Given the description of an element on the screen output the (x, y) to click on. 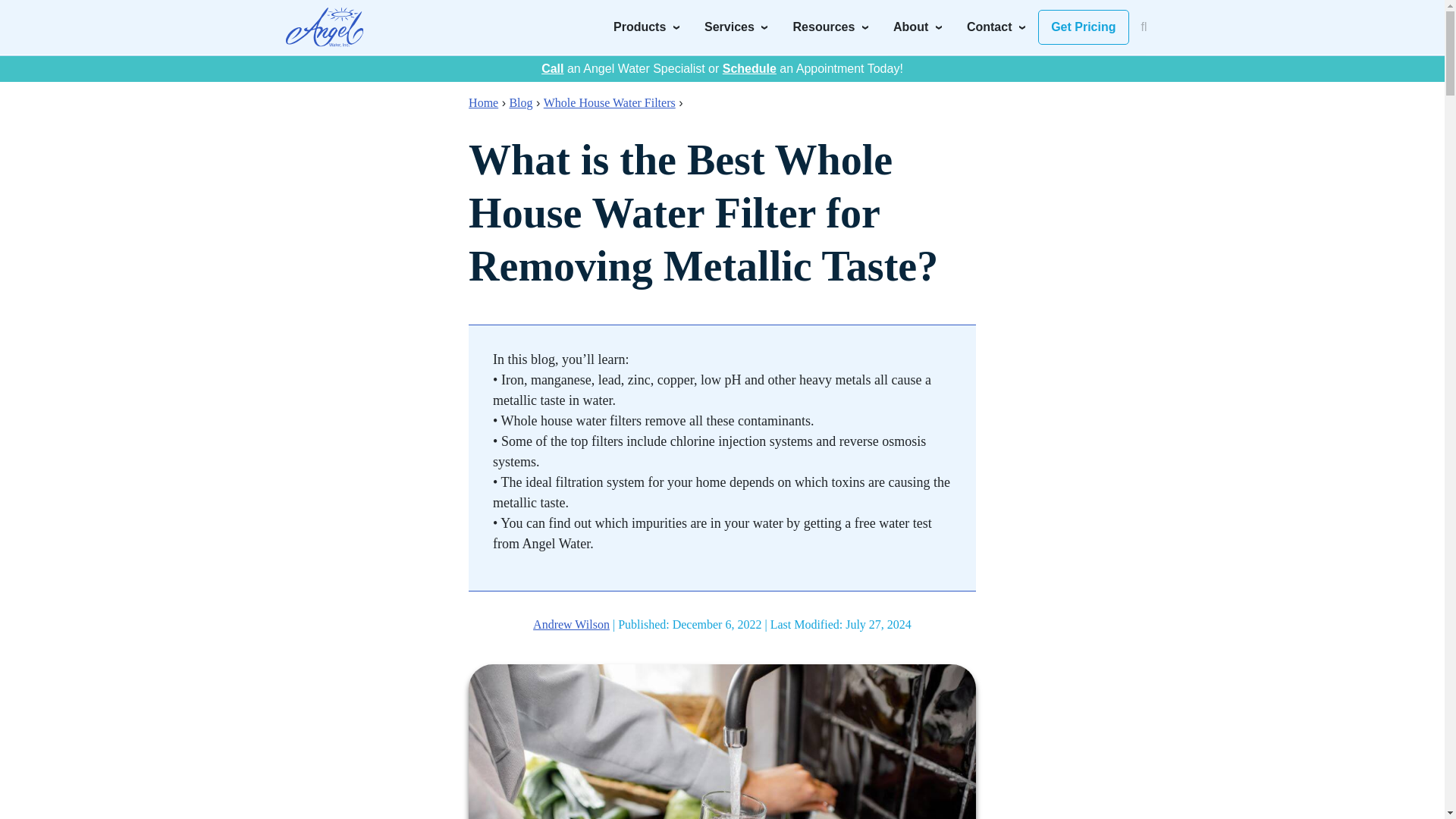
Products (647, 26)
Services (736, 26)
Contact (996, 26)
Search (1017, 21)
Get Pricing (1083, 27)
About (917, 26)
Angel Water (323, 26)
Resources (831, 26)
